Given the description of an element on the screen output the (x, y) to click on. 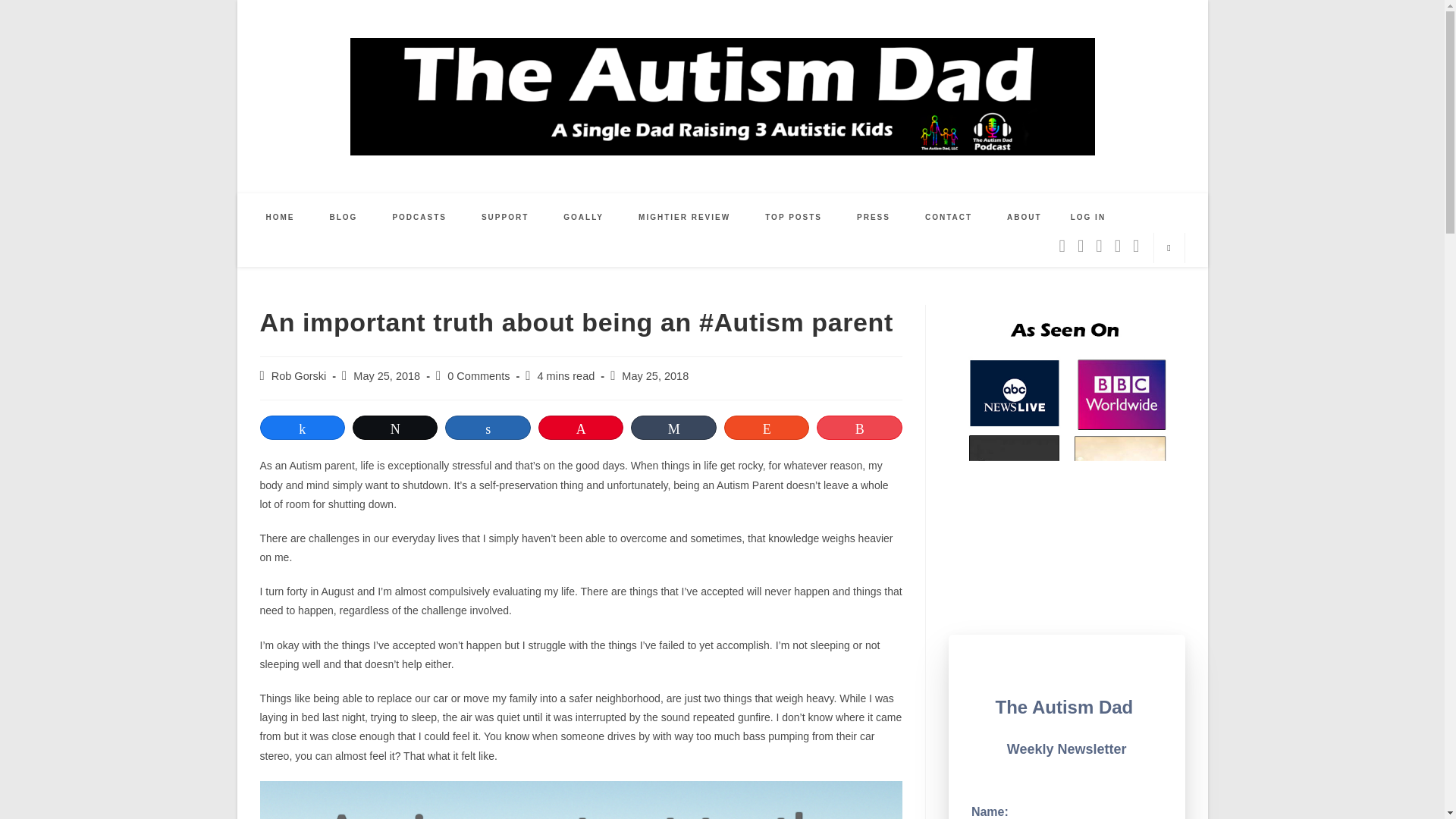
PODCASTS (419, 217)
TOP POSTS (794, 217)
PRESS (873, 217)
MIGHTIER REVIEW (684, 217)
GOALLY (583, 217)
LOG IN (1087, 217)
Rob Gorski (298, 376)
CONTACT (948, 217)
HOME (280, 217)
BLOG (344, 217)
Posts by Rob Gorski (298, 376)
ABOUT (1024, 217)
SUPPORT (505, 217)
0 Comments (477, 376)
